Given the description of an element on the screen output the (x, y) to click on. 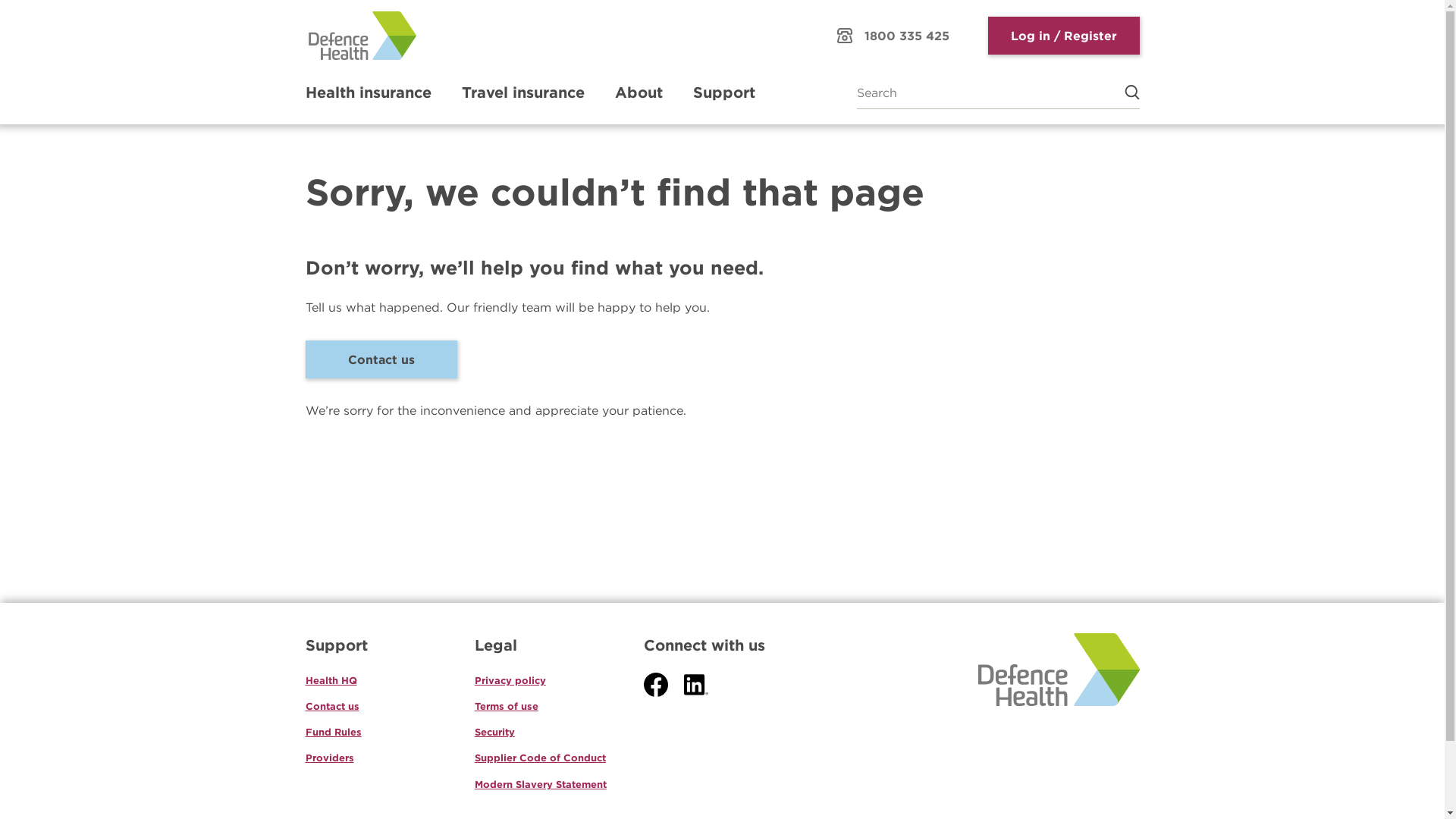
1800 335 425 Element type: text (893, 35)
Contact us Element type: text (331, 705)
Modern Slavery Statement Element type: text (540, 783)
Support Element type: text (724, 92)
Security Element type: text (494, 731)
Supplier Code of Conduct Element type: text (539, 757)
Health HQ Element type: text (330, 679)
Terms of use Element type: text (506, 705)
Log in / Register Element type: text (1063, 35)
Fund Rules Element type: text (332, 731)
About Element type: text (638, 92)
search Element type: text (1123, 92)
Privacy policy Element type: text (510, 679)
Contact us Element type: text (380, 359)
Health insurance Element type: text (367, 92)
Travel insurance Element type: text (522, 92)
Providers Element type: text (328, 757)
